Given the description of an element on the screen output the (x, y) to click on. 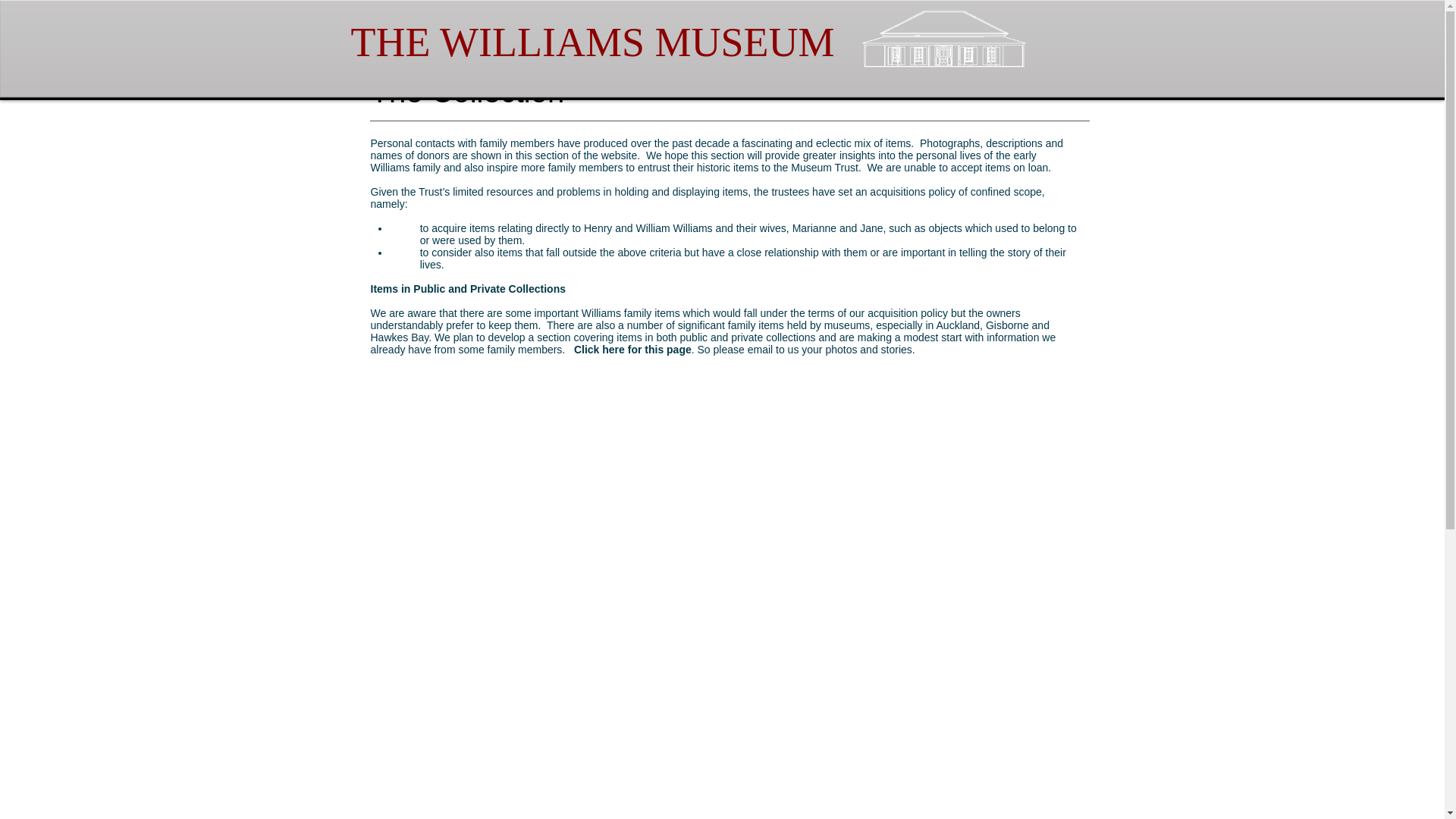
Click here for this page (632, 349)
Williams-house-logo.gif (943, 38)
